Given the description of an element on the screen output the (x, y) to click on. 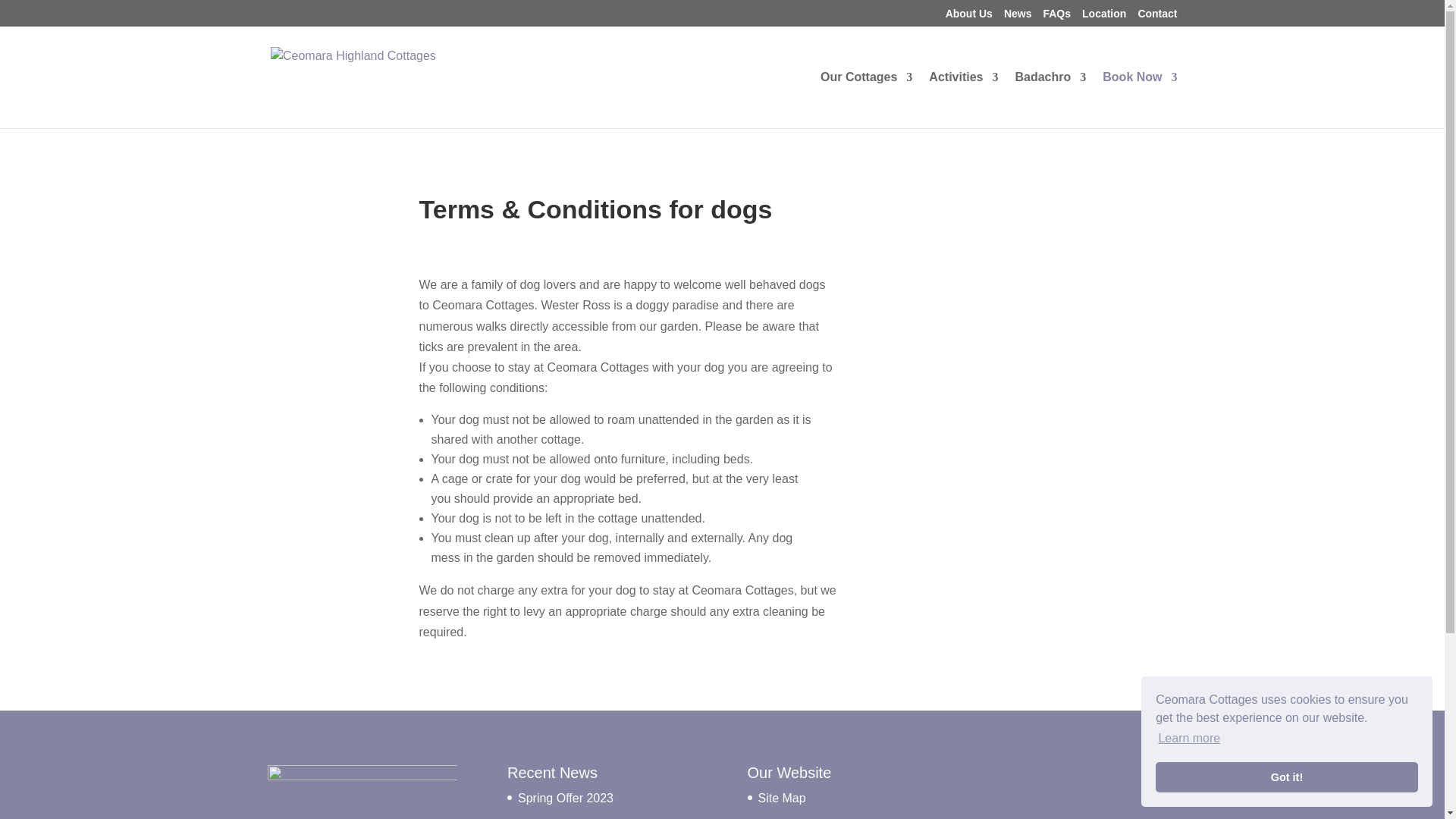
Our Cottages (866, 99)
About Us (968, 16)
Location (1103, 16)
Things to See and Do around Badachro (962, 99)
Contact Ceomara Highland Cottages (1156, 16)
Our Self-Catering Cottages (866, 99)
Contact (1156, 16)
Learn more (1189, 738)
Got it! (1287, 777)
News from Ceomara (1018, 16)
